Given the description of an element on the screen output the (x, y) to click on. 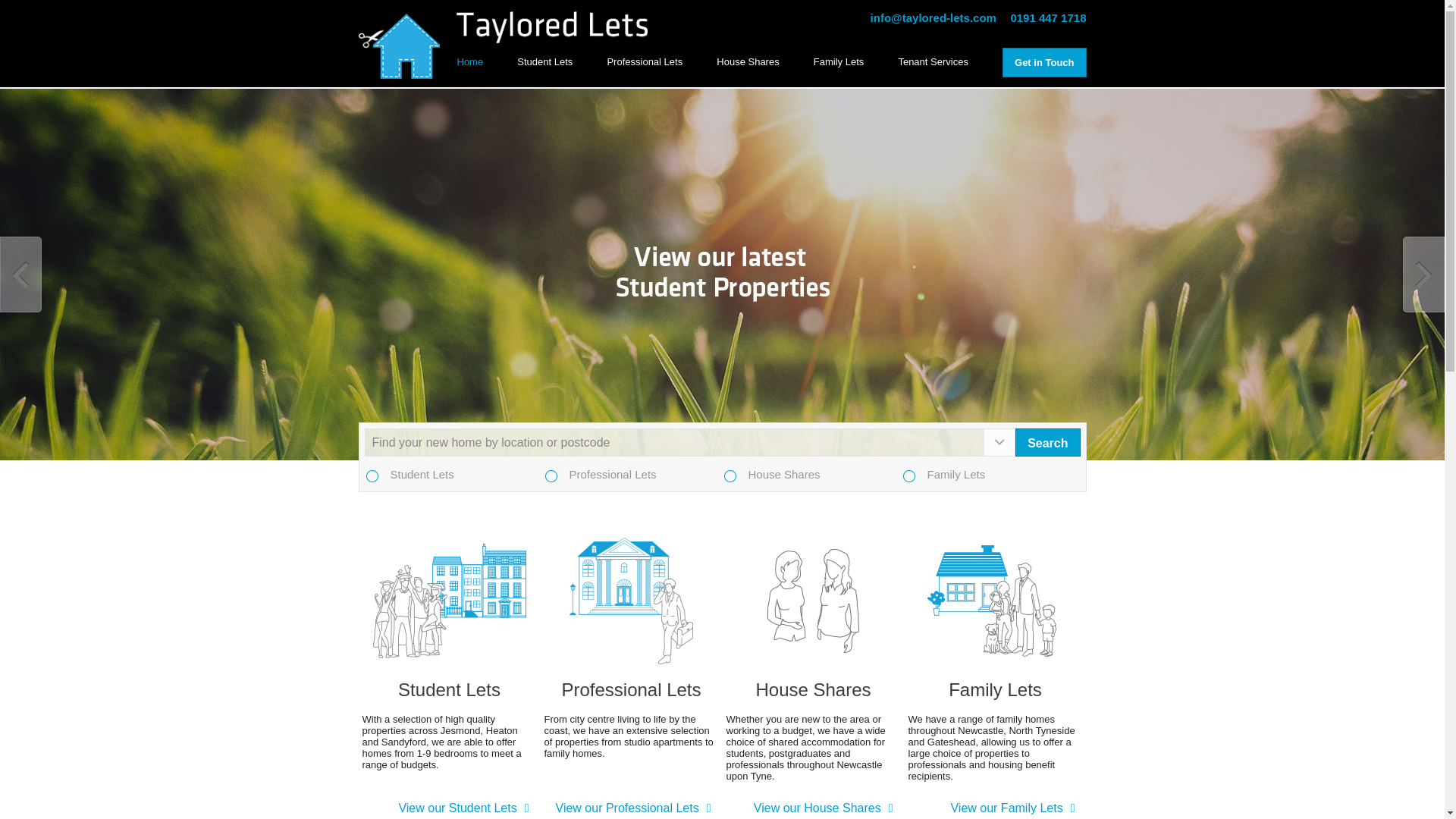
Taylored Lets (398, 45)
Taylored Lets (552, 27)
Student Lets (449, 688)
Family Lets (838, 61)
Professional Lets (631, 688)
0191 447 1718 (1048, 17)
Home (470, 61)
Tenant Services (933, 61)
House Shares (813, 688)
House Shares (747, 61)
Student Lets (544, 61)
Get in Touch (1043, 62)
Search (1047, 442)
